Given the description of an element on the screen output the (x, y) to click on. 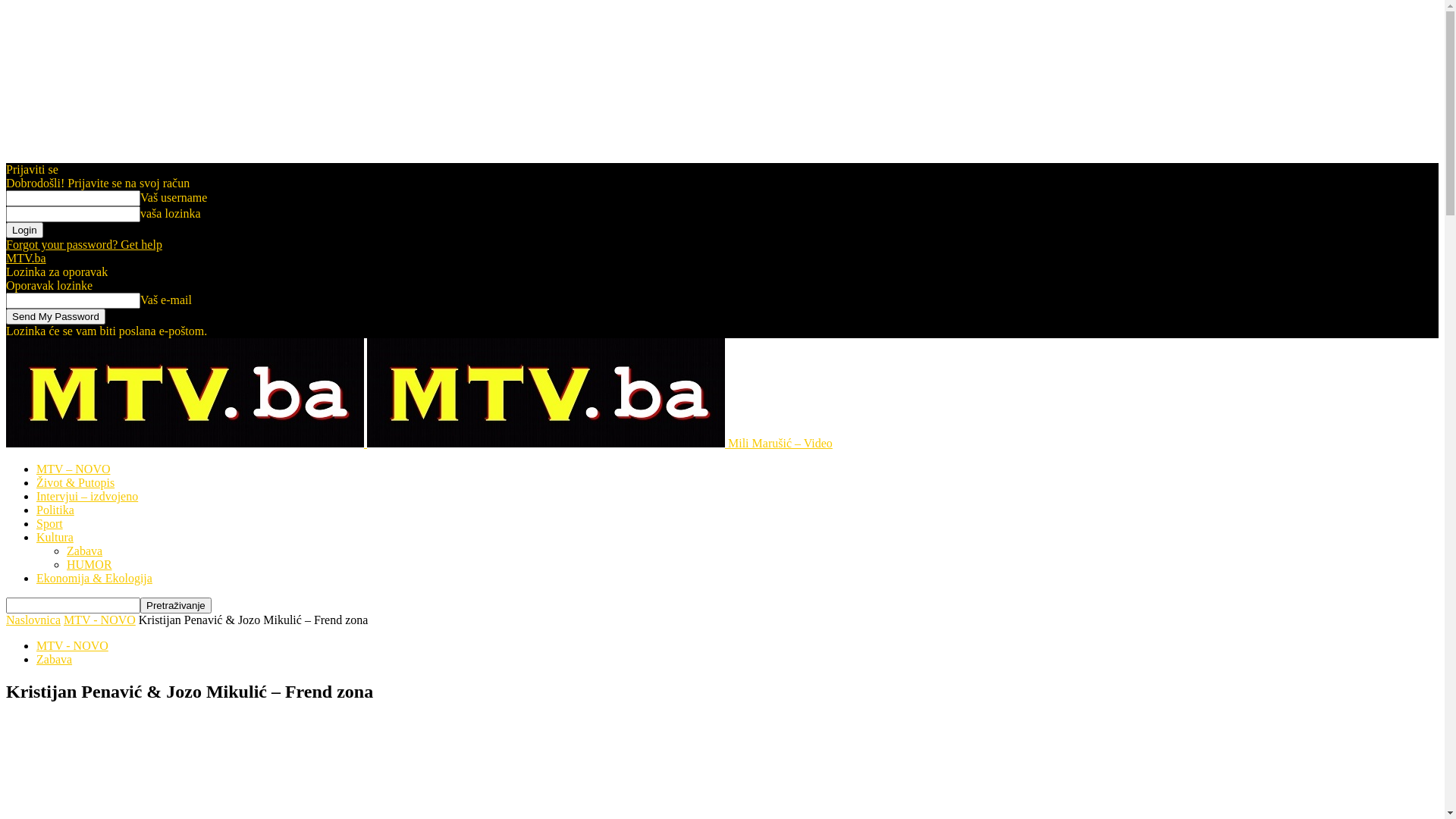
Kultura Element type: text (54, 536)
MTV.ba Element type: text (26, 257)
Forgot your password? Get help Element type: text (84, 244)
Zabava Element type: text (84, 550)
Ekonomija & Ekologija Element type: text (94, 577)
Naslovnica Element type: text (33, 619)
Politika Element type: text (55, 509)
HUMOR Element type: text (89, 564)
MTV - NOVO Element type: text (99, 619)
Zabava Element type: text (54, 658)
Sport Element type: text (49, 523)
MTV - NOVO Element type: text (72, 645)
